Given the description of an element on the screen output the (x, y) to click on. 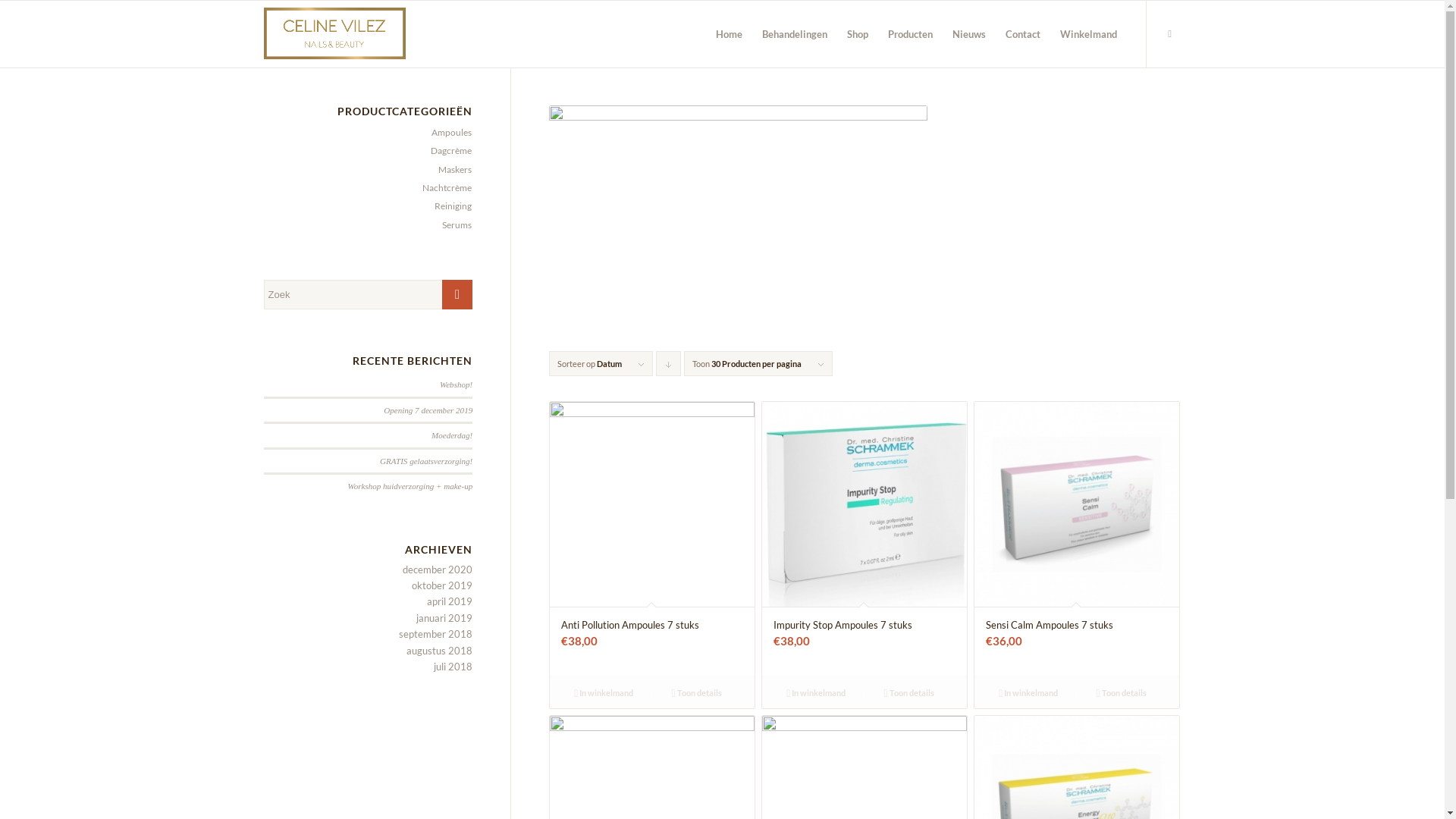
Maskers Element type: text (451, 169)
Behandelingen Element type: text (794, 33)
december 2020 Element type: text (437, 569)
Toon details Element type: text (908, 692)
Facebook Element type: hover (1169, 32)
Winkelmand Element type: text (1087, 33)
Home Element type: text (728, 33)
oktober 2019 Element type: text (441, 585)
Producten Element type: text (910, 33)
In winkelmand Element type: text (603, 692)
Toon details Element type: text (1120, 692)
GRATIS gelaatsverzorging! Element type: text (425, 460)
Opening 7 december 2019 Element type: text (427, 409)
Producten aflopend sorteren Element type: text (667, 363)
In winkelmand Element type: text (1028, 692)
Reiniging Element type: text (449, 205)
juli 2018 Element type: text (452, 666)
Moederdag! Element type: text (451, 434)
Workshop huidverzorging + make-up Element type: text (410, 485)
Serums Element type: text (453, 224)
augustus 2018 Element type: text (439, 650)
april 2019 Element type: text (449, 601)
september 2018 Element type: text (435, 633)
Ampoules Element type: text (447, 132)
In winkelmand Element type: text (815, 692)
Nieuws Element type: text (967, 33)
januari 2019 Element type: text (444, 617)
Toon details Element type: text (696, 692)
Webshop! Element type: text (455, 384)
Shop Element type: text (857, 33)
Logo-Celine-Vilez Element type: hover (334, 33)
Contact Element type: text (1021, 33)
